Given the description of an element on the screen output the (x, y) to click on. 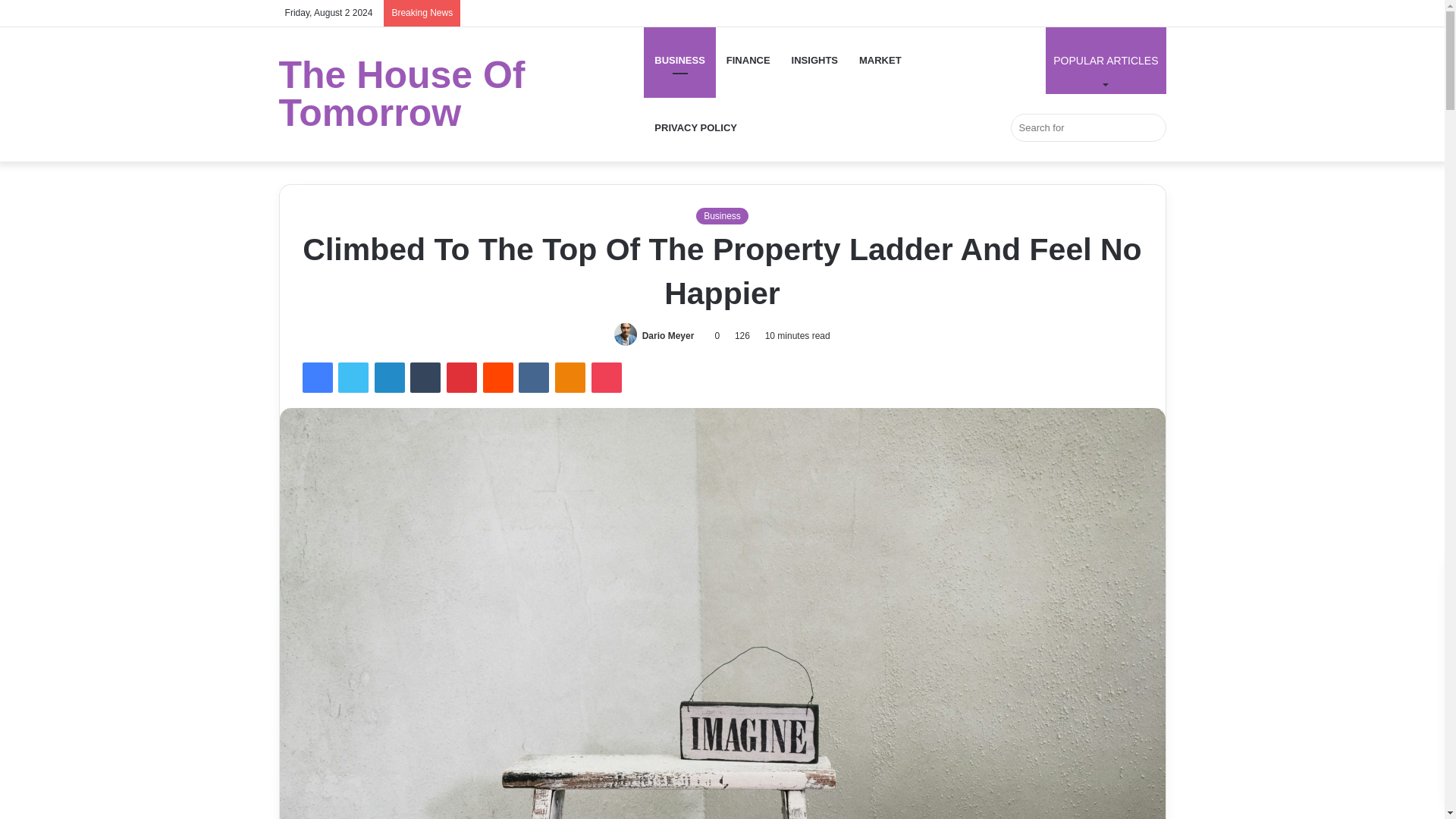
Search for (1088, 127)
Dario Meyer (668, 335)
Tumblr (425, 377)
FINANCE (748, 60)
BUSINESS (678, 60)
Reddit (498, 377)
INSIGHTS (814, 60)
MARKET (880, 60)
The House Of Tomorrow (462, 93)
VKontakte (533, 377)
Pinterest (461, 377)
LinkedIn (389, 377)
The House Of Tomorrow (462, 93)
PRIVACY POLICY (695, 127)
